Given the description of an element on the screen output the (x, y) to click on. 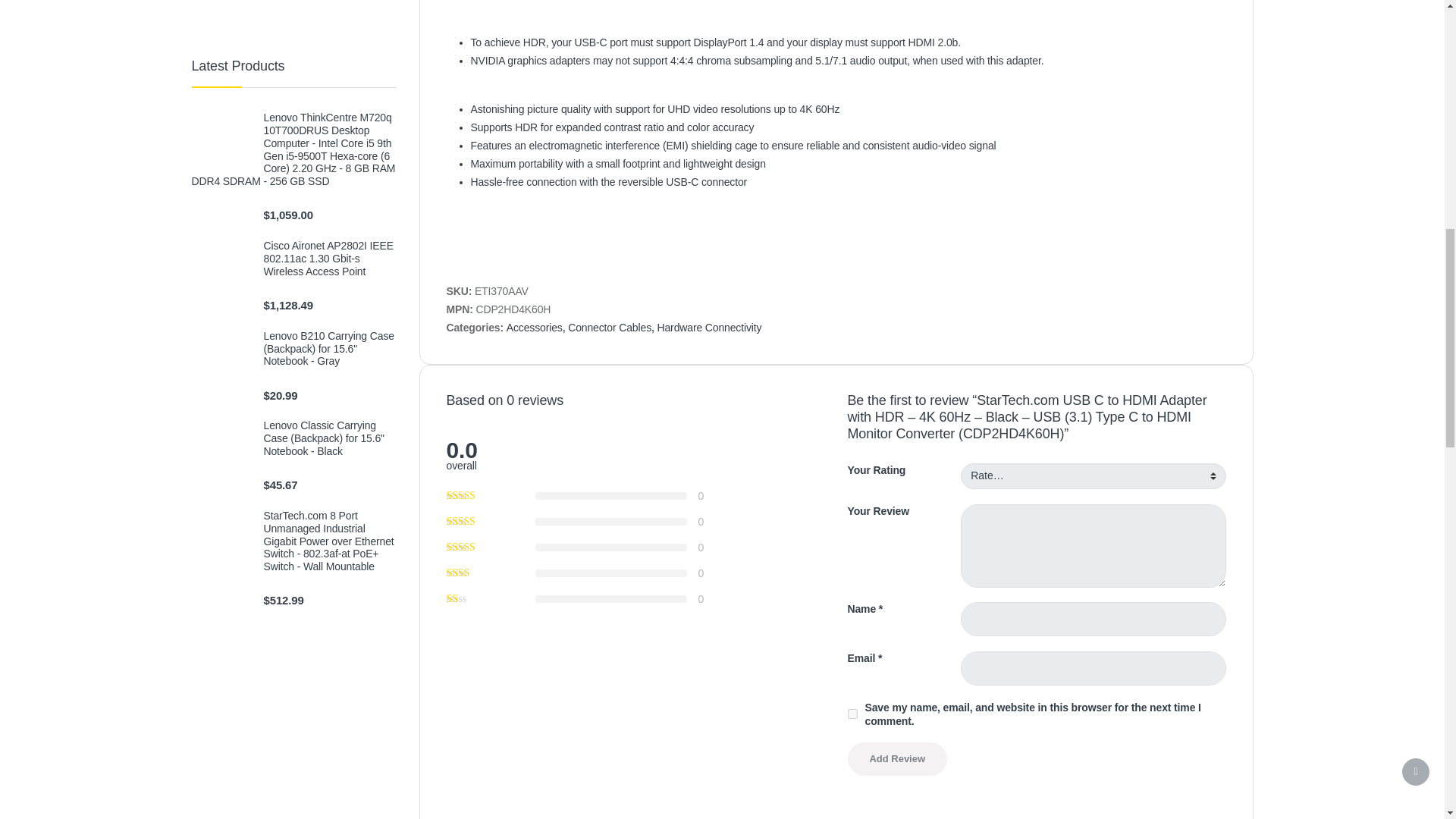
Add Review (897, 758)
yes (852, 714)
